Given the description of an element on the screen output the (x, y) to click on. 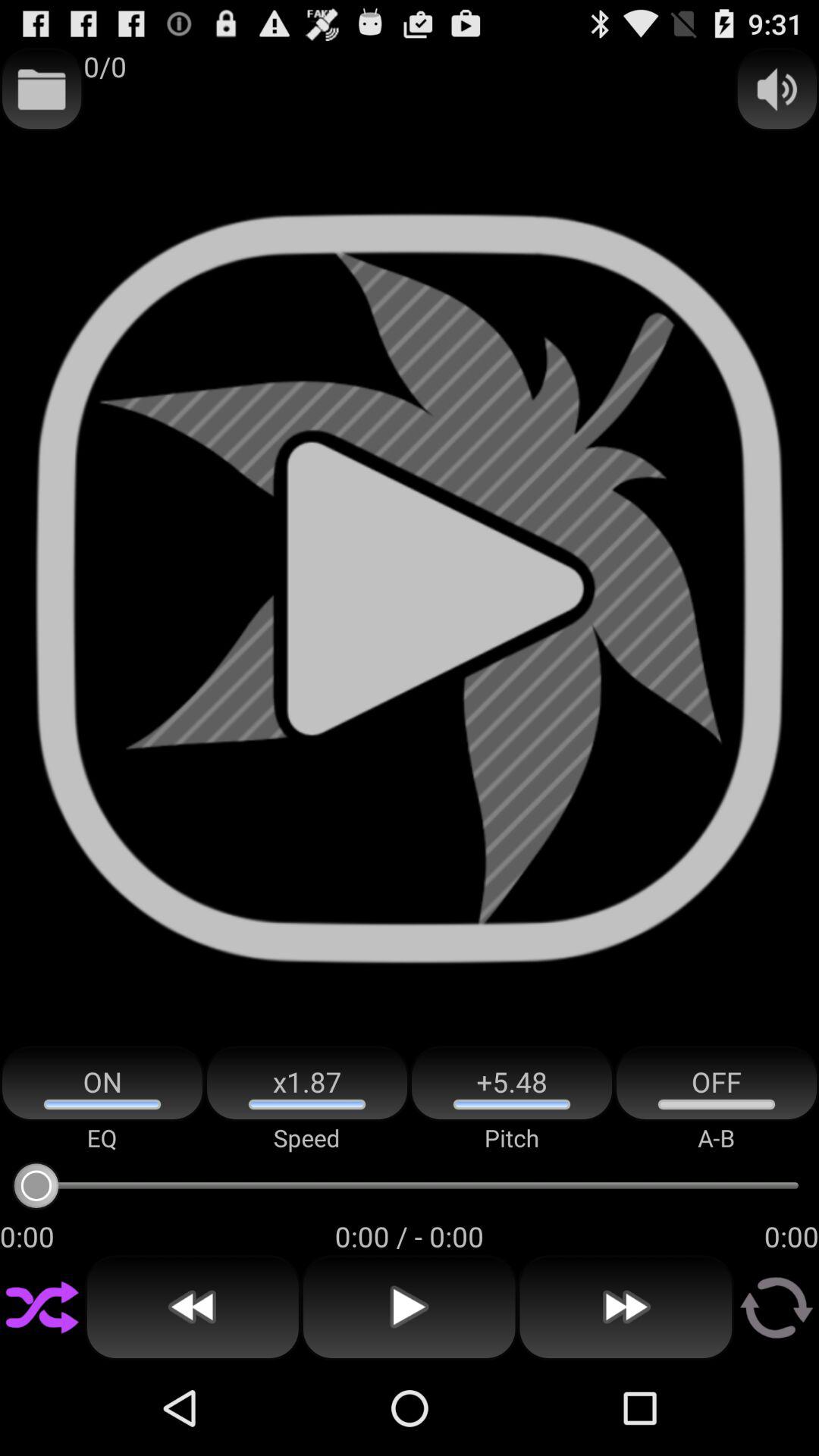
tap the icon above the eq (102, 1083)
